Given the description of an element on the screen output the (x, y) to click on. 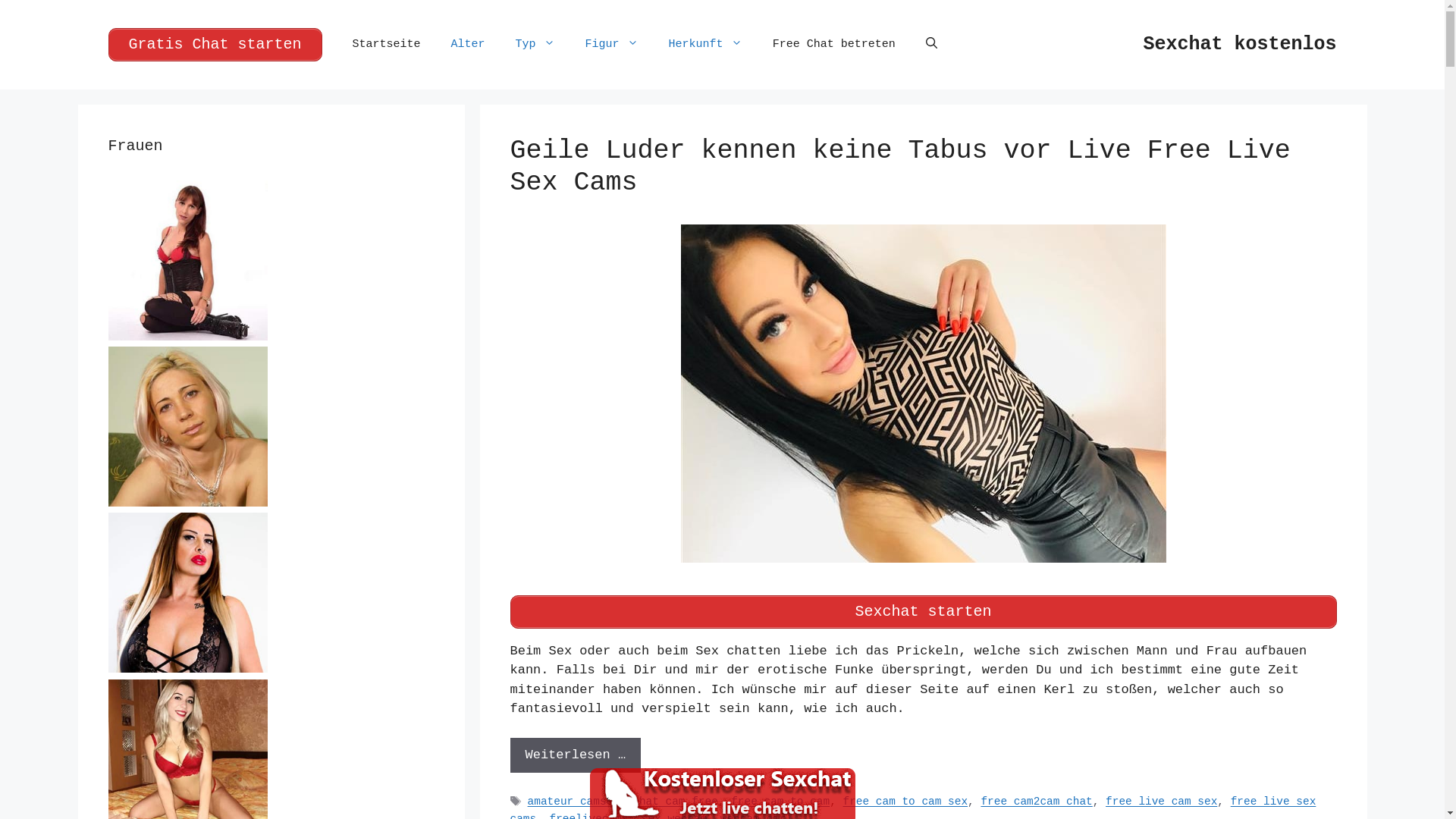
free cam2cam chat Element type: text (1036, 802)
free cam to cam sex Element type: text (904, 802)
Free Chat betreten Element type: text (833, 44)
Figur Element type: text (611, 44)
Startseite Element type: text (386, 44)
Gratis Chat starten Element type: text (214, 44)
free live cam sex Element type: text (1161, 802)
amateur camsex Element type: text (573, 802)
Geile Luder kennen keine Tabus vor Live Free Live Sex Cams Element type: text (899, 166)
Alter Element type: text (468, 44)
Herkunft Element type: text (705, 44)
free cam to cam Element type: text (780, 802)
Sexchat starten Element type: text (922, 610)
Typ Element type: text (535, 44)
Sexchat kostenlos Element type: text (1239, 44)
chat cam free Element type: text (675, 802)
